Given the description of an element on the screen output the (x, y) to click on. 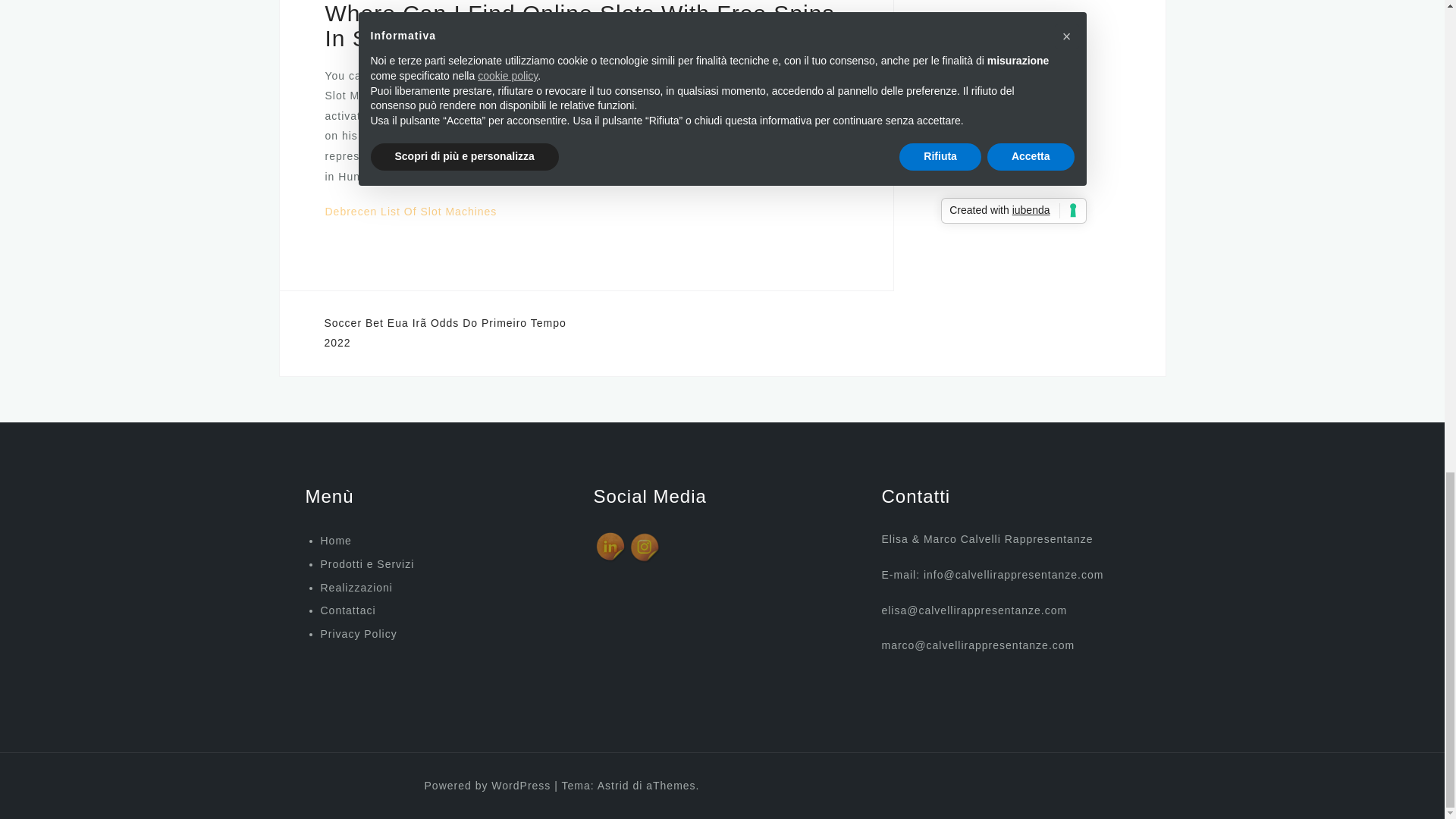
Debrecen List Of Slot Machines (410, 211)
LinkedIn (610, 547)
Privacy Policy  (353, 672)
Instagram (645, 547)
Prodotti e Servizi (366, 563)
Home (335, 540)
